Given the description of an element on the screen output the (x, y) to click on. 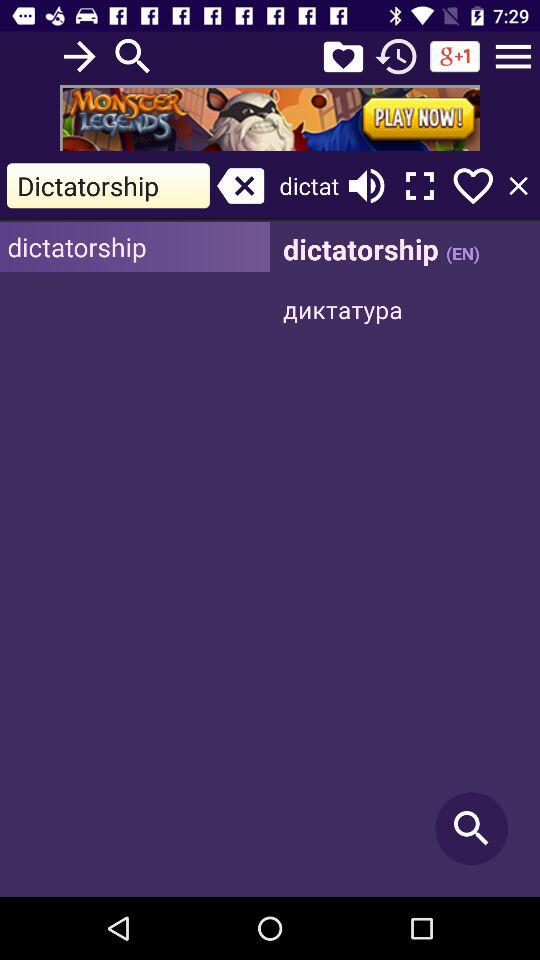
foward (79, 56)
